Given the description of an element on the screen output the (x, y) to click on. 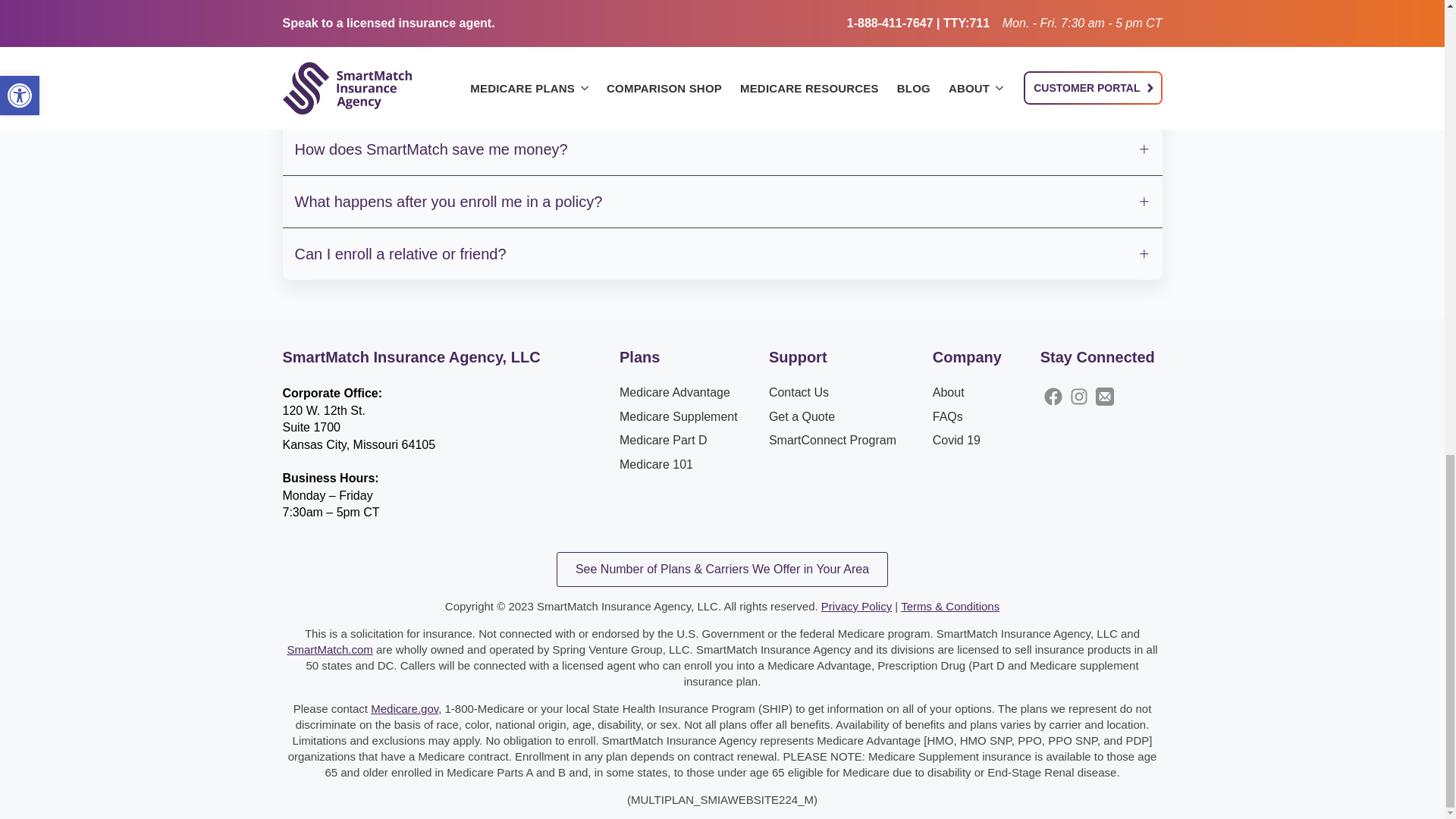
SmartConnect Program (832, 440)
Contact Us (798, 392)
Why would several carriers agree to work with you? (721, 9)
Medicare 101 (656, 464)
How long does the call take? (721, 44)
Can I enroll a relative or friend? (721, 254)
FAQs (947, 416)
How does SmartMatch save me money? (721, 149)
About (948, 392)
Do I have to buy something? (721, 96)
What happens after you enroll me in a policy? (721, 201)
Medicare Advantage (675, 392)
Medicare Part D (663, 440)
Medicare Supplement (679, 416)
Get a Quote (801, 416)
